Given the description of an element on the screen output the (x, y) to click on. 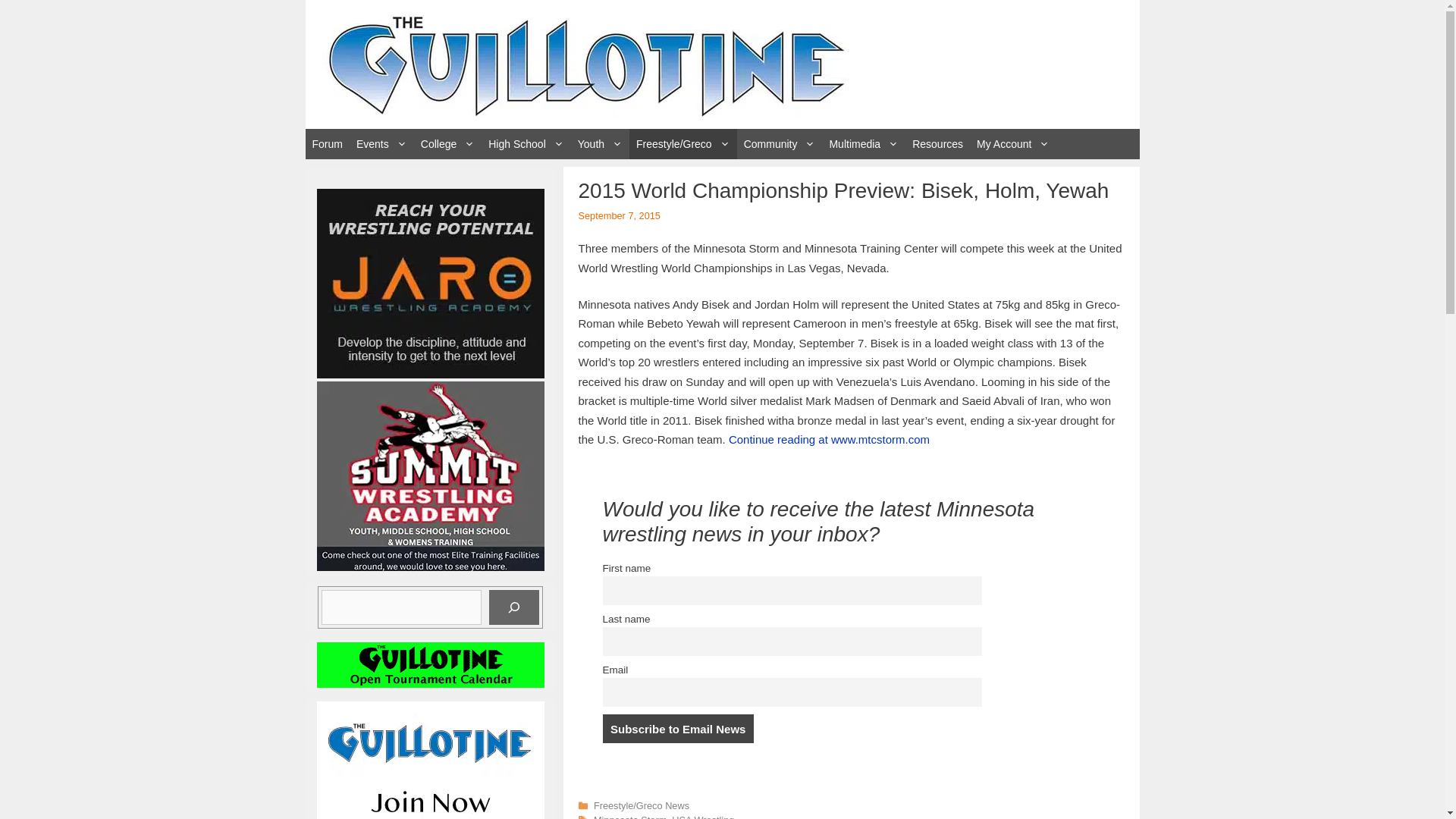
High School (525, 143)
Events (381, 143)
The Guillotine Events Calendar (381, 143)
Forum (326, 143)
College News (447, 143)
College (447, 143)
Subscribe to Email News (677, 728)
